Given the description of an element on the screen output the (x, y) to click on. 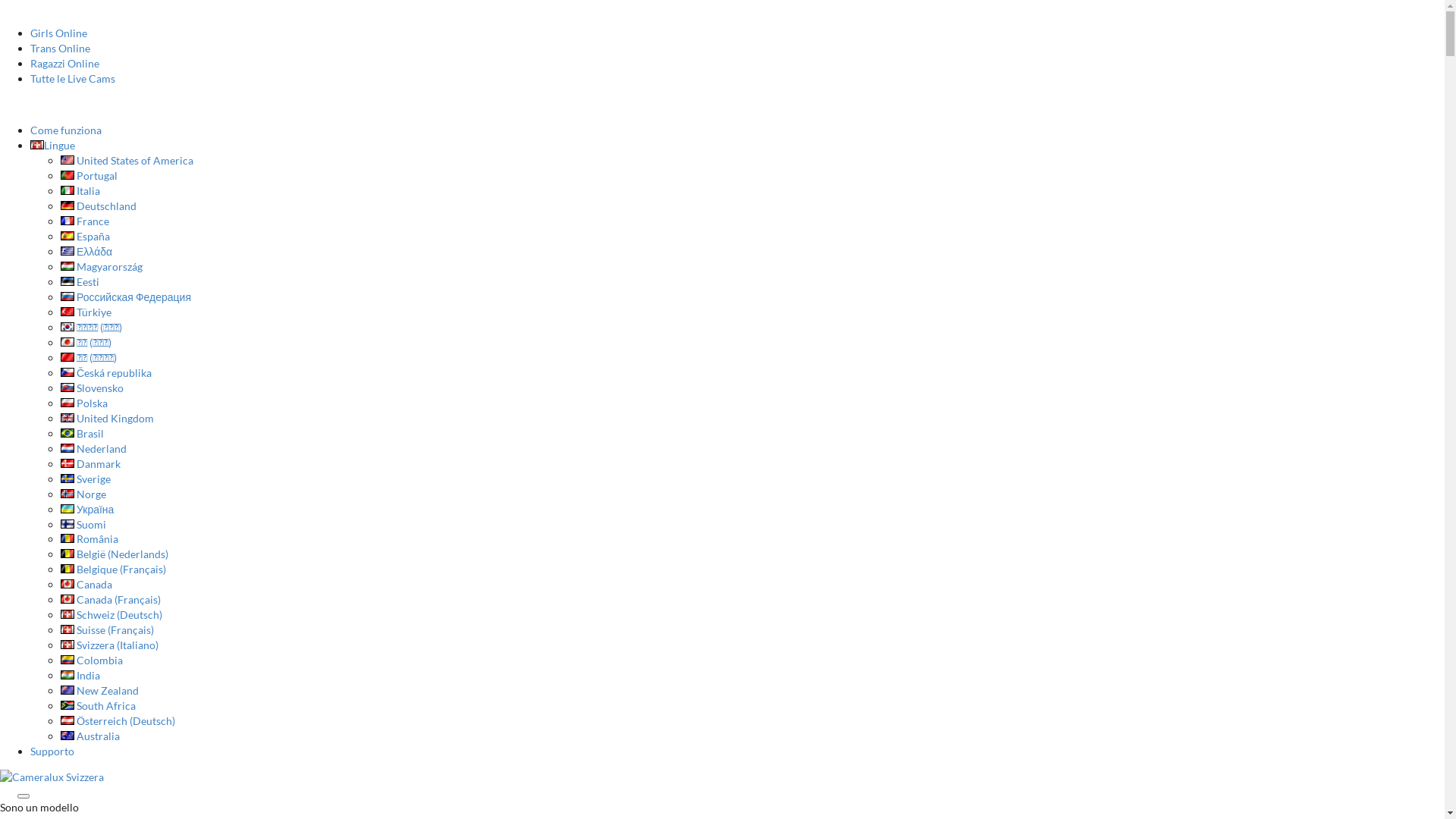
Trans Online Element type: text (60, 47)
Supporto Element type: text (52, 750)
Ragazze in webcam dal vivo chat erotiche Svizzera Element type: hover (51, 776)
Girls Online Element type: text (58, 32)
  Element type: text (1, 103)
Slovensko Element type: text (91, 387)
Canada Element type: text (86, 583)
Lingue Element type: text (52, 144)
Suomi Element type: text (83, 523)
India Element type: text (80, 674)
France Element type: text (84, 220)
Ragazzi Online Element type: text (64, 62)
Polska Element type: text (83, 402)
Deutschland Element type: text (98, 205)
Svizzera (Italiano) Element type: text (109, 644)
Brasil Element type: text (81, 432)
New Zealand Element type: text (99, 690)
Sverige Element type: text (85, 478)
Come funziona Element type: text (65, 129)
Australia Element type: text (89, 735)
Danmark Element type: text (90, 463)
Norge Element type: text (83, 493)
South Africa Element type: text (97, 705)
Tutte le Live Cams Element type: text (72, 78)
Italia Element type: text (80, 190)
Colombia Element type: text (91, 659)
Portugal Element type: text (88, 175)
Nederland Element type: text (93, 448)
Eesti Element type: text (79, 281)
Schweiz (Deutsch) Element type: text (111, 614)
United Kingdom Element type: text (106, 417)
United States of America Element type: text (126, 159)
